Given the description of an element on the screen output the (x, y) to click on. 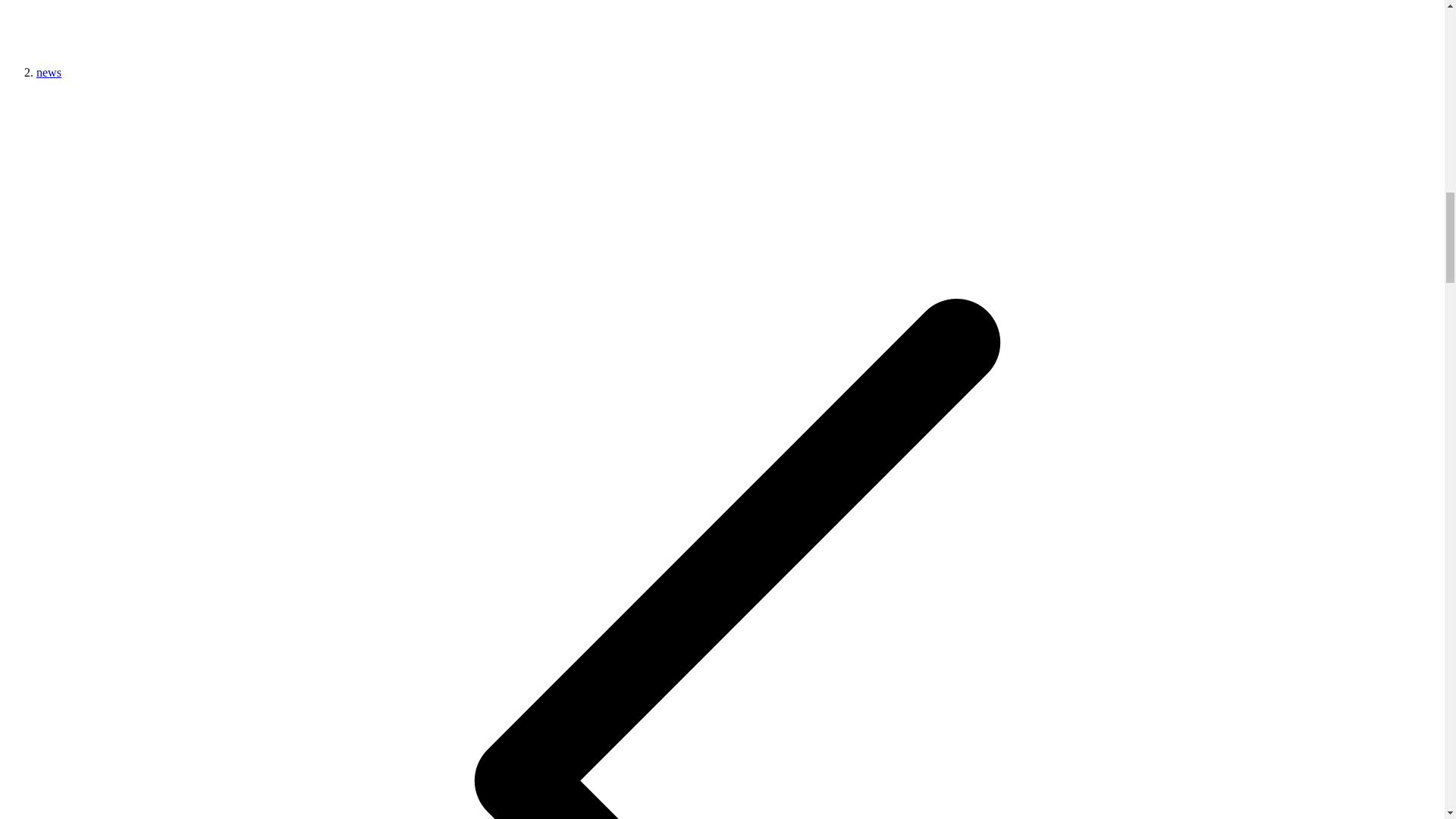
news (48, 72)
